Given the description of an element on the screen output the (x, y) to click on. 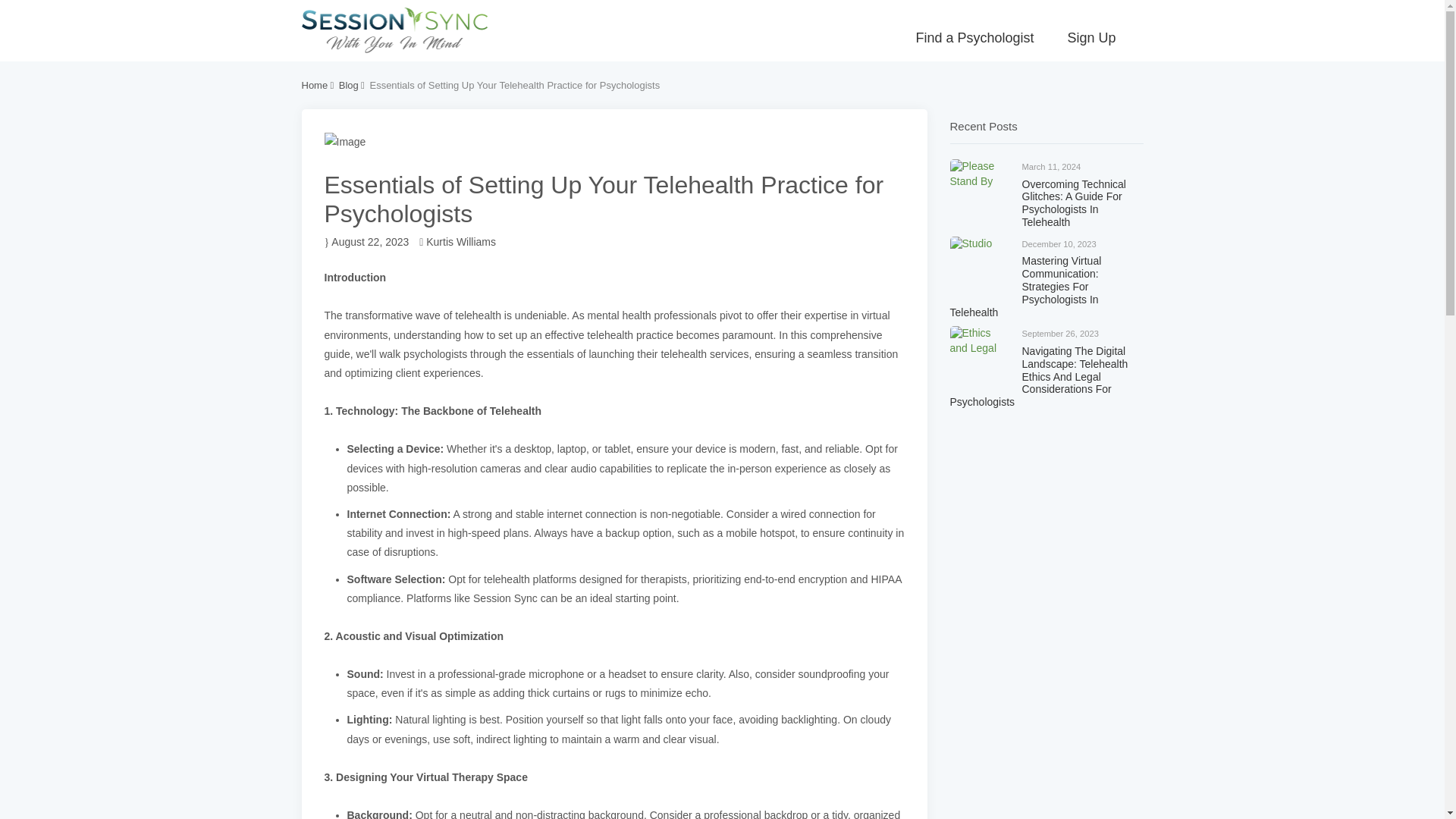
Find a Psychologist (973, 38)
Blog (348, 84)
Home (315, 84)
